Given the description of an element on the screen output the (x, y) to click on. 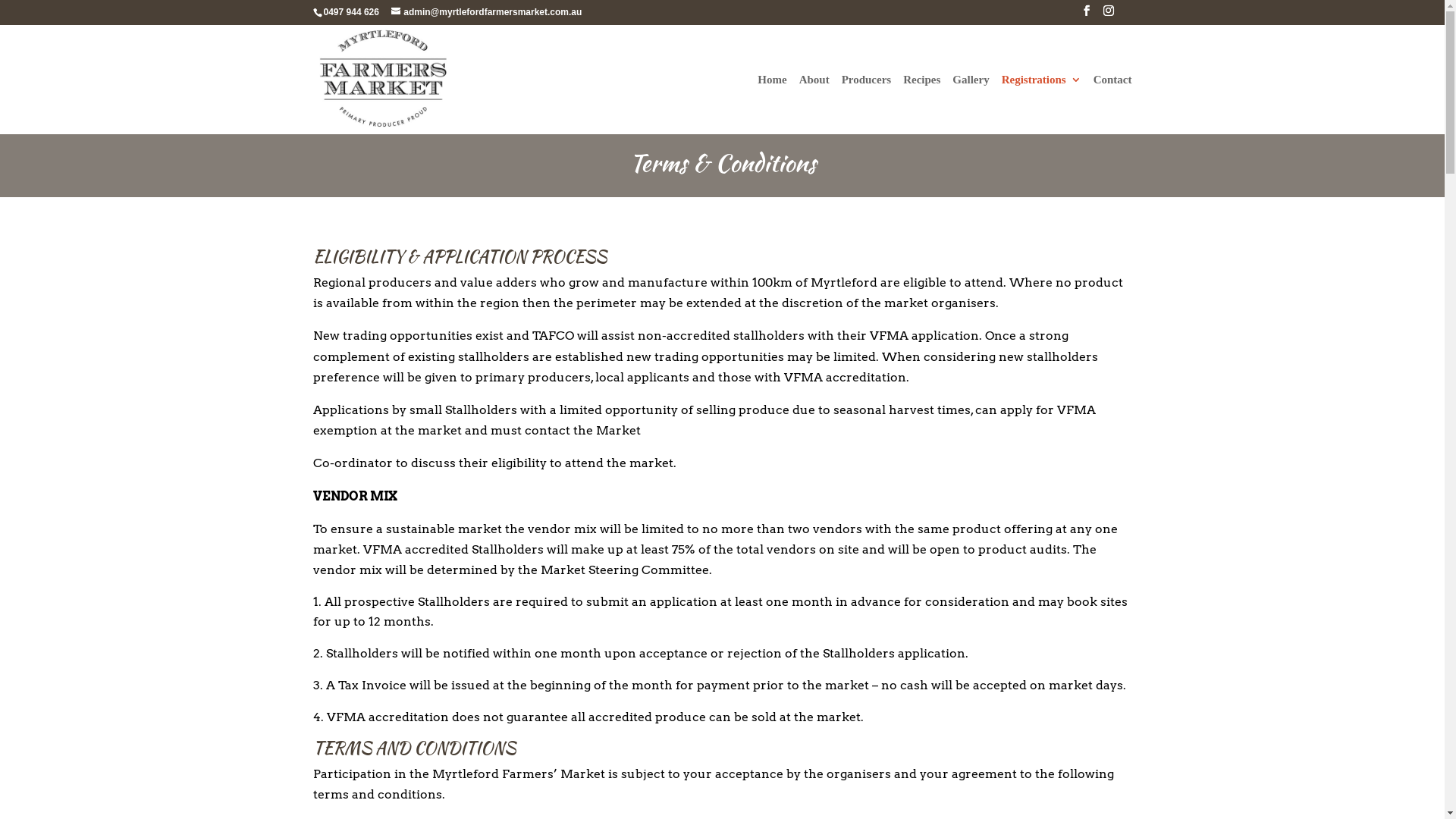
0497 944 626 Element type: text (350, 11)
Contact Element type: text (1112, 104)
Home Element type: text (771, 104)
About Element type: text (814, 104)
admin@myrtlefordfarmersmarket.com.au Element type: text (486, 11)
Registrations Element type: text (1041, 104)
Recipes Element type: text (921, 104)
Producers Element type: text (866, 104)
Gallery Element type: text (970, 104)
